Given the description of an element on the screen output the (x, y) to click on. 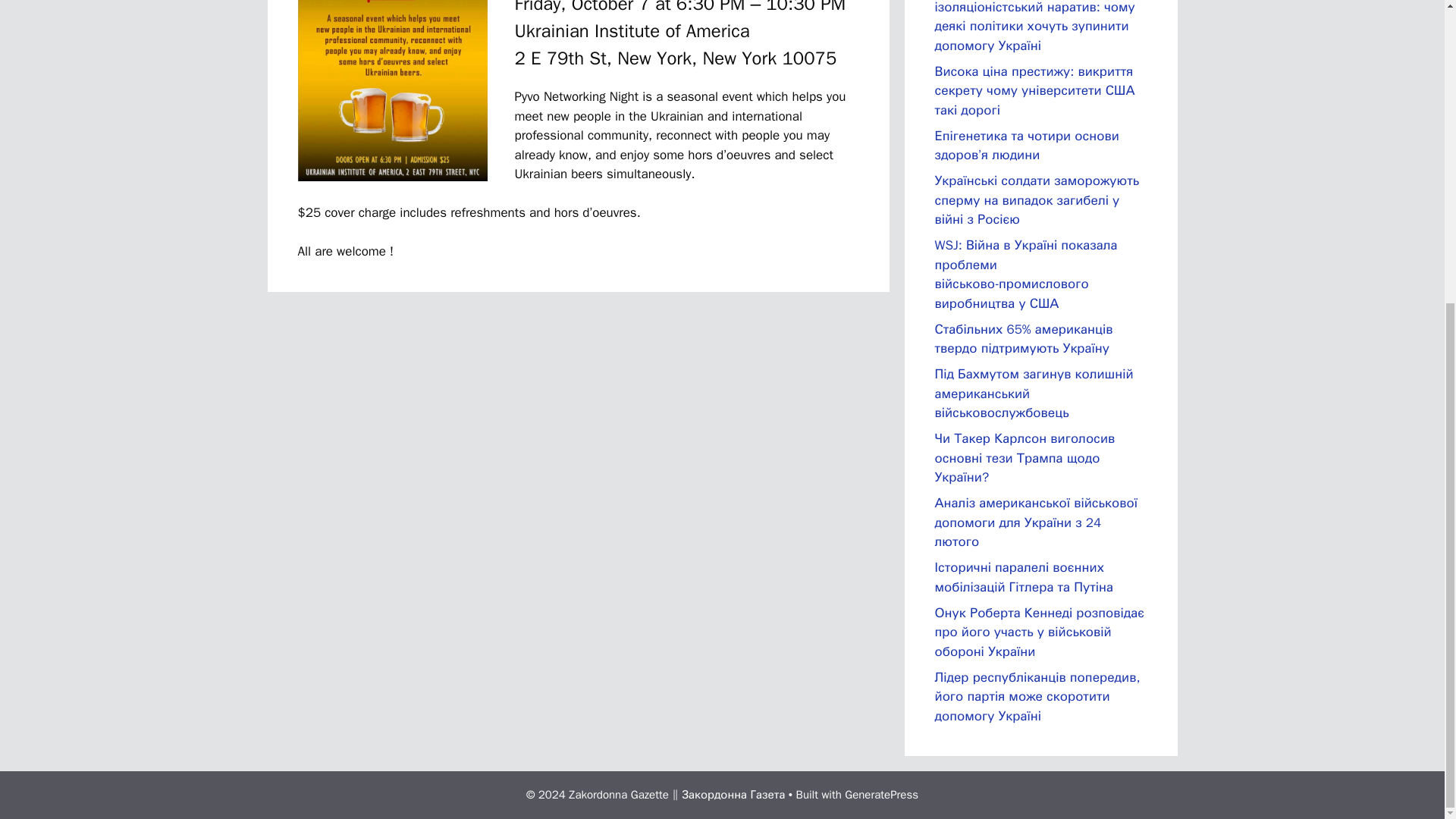
GeneratePress (881, 794)
